Given the description of an element on the screen output the (x, y) to click on. 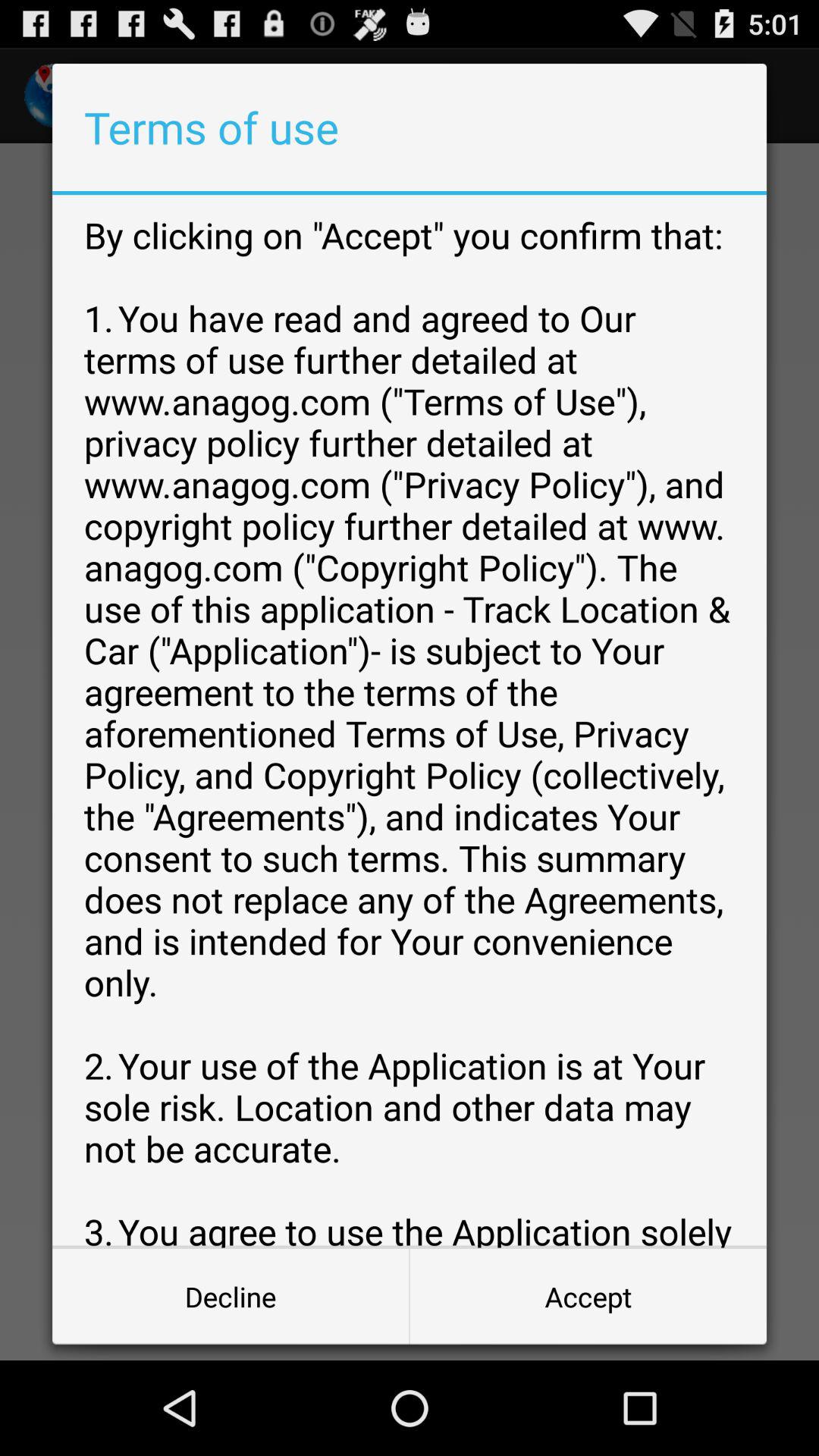
press item to the left of accept button (230, 1296)
